Given the description of an element on the screen output the (x, y) to click on. 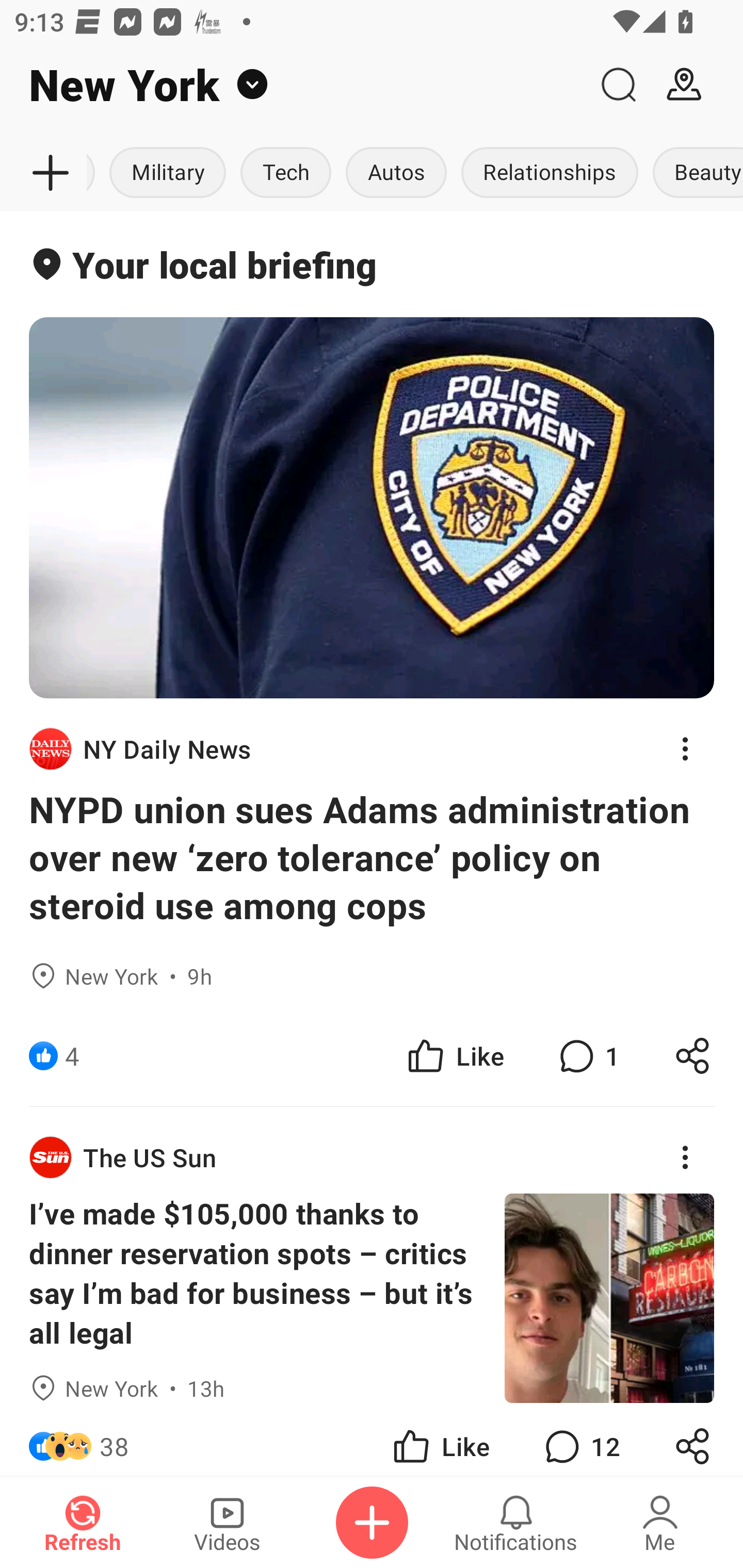
New York (292, 84)
Pets (94, 172)
Military (167, 172)
Tech (285, 172)
Autos (395, 172)
Relationships (549, 172)
Beauty (694, 172)
4 (72, 1055)
Like (454, 1055)
1 (587, 1055)
38 (114, 1440)
Like (439, 1440)
12 (579, 1440)
Videos (227, 1522)
Notifications (516, 1522)
Me (659, 1522)
